Given the description of an element on the screen output the (x, y) to click on. 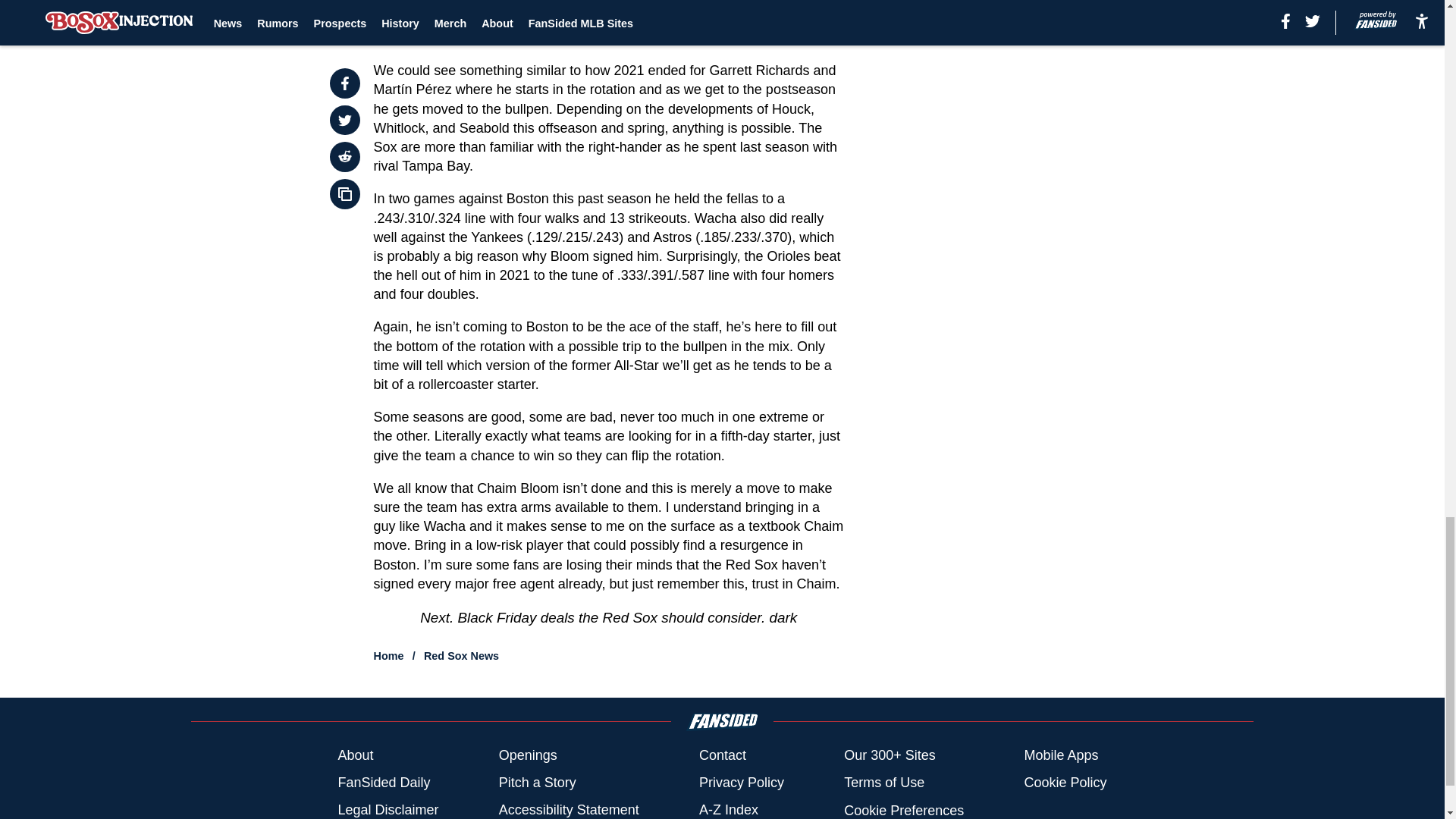
Red Sox News (461, 655)
Home (389, 655)
Openings (528, 754)
About (354, 754)
Contact (721, 754)
